Given the description of an element on the screen output the (x, y) to click on. 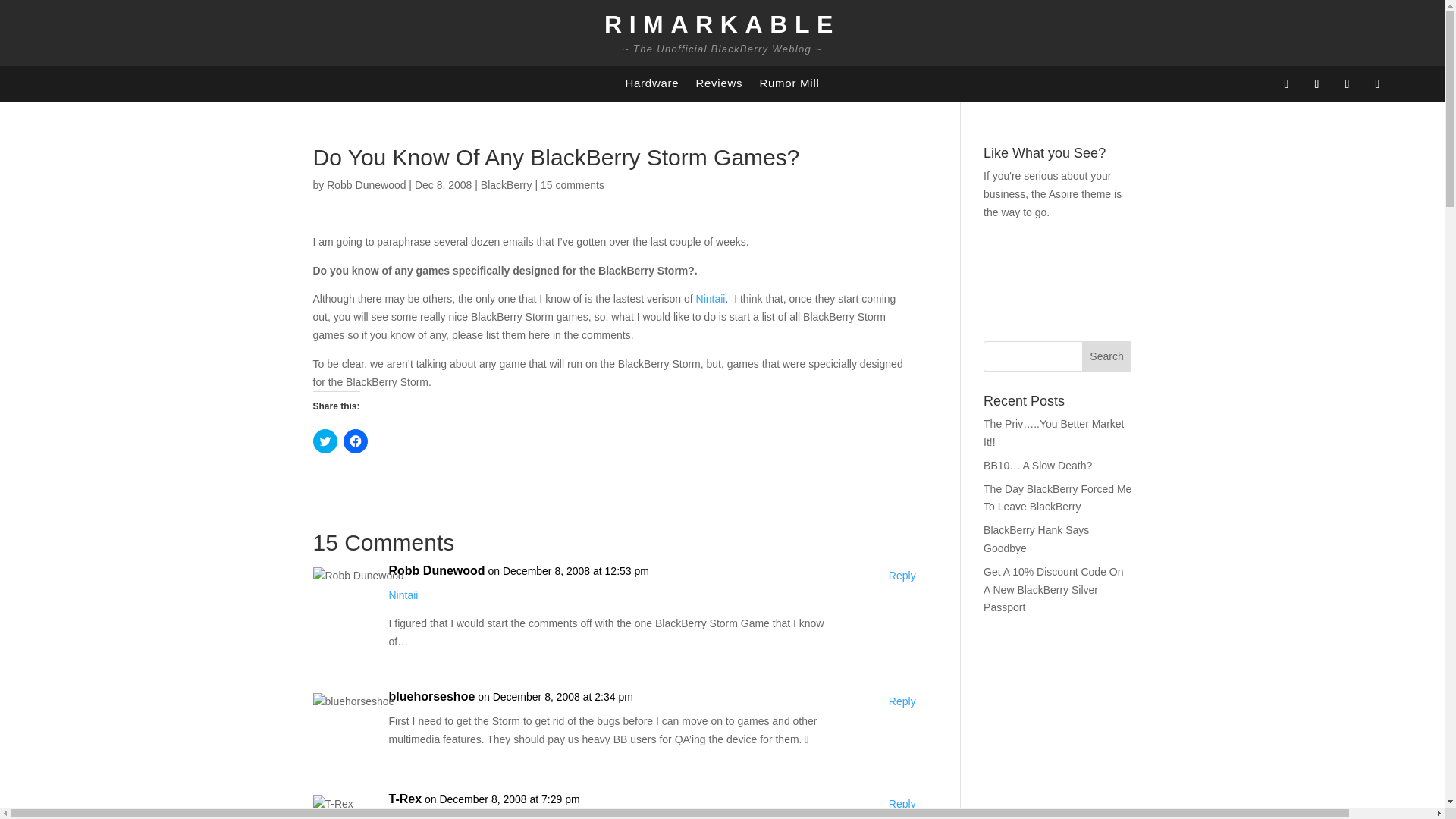
Follow on Facebook (1286, 84)
Hardware (651, 86)
Reply (901, 701)
Robb Dunewood (436, 570)
Reply (901, 576)
Reviews (718, 86)
Search (1106, 356)
Posts by Robb Dunewood (366, 184)
Reply (901, 804)
Click to share on Twitter (324, 441)
